Given the description of an element on the screen output the (x, y) to click on. 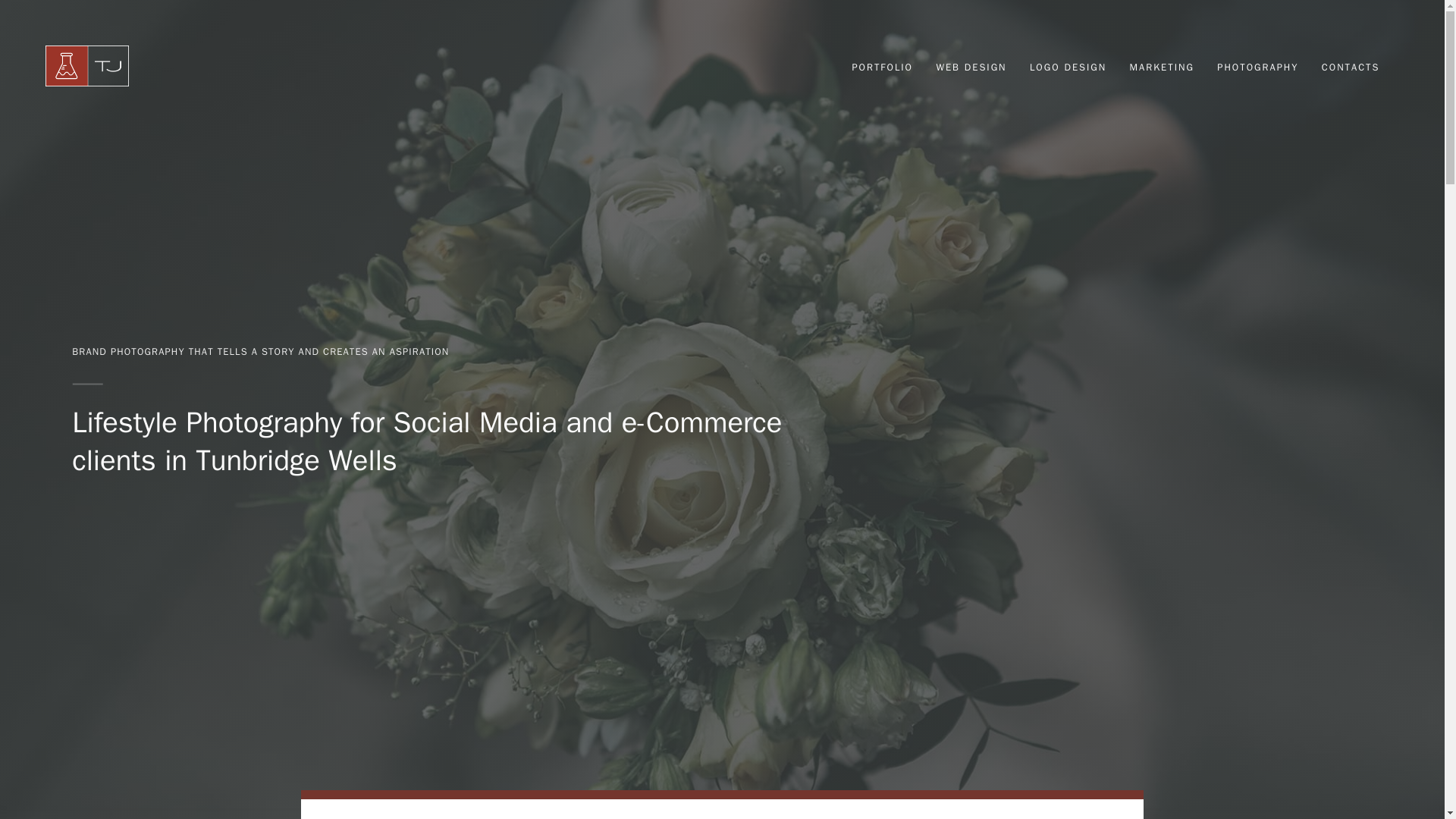
WEB DESIGN (981, 67)
MARKETING (1171, 67)
PORTFOLIO (891, 67)
LOGO DESIGN (1077, 67)
CONTACTS (1360, 67)
PHOTOGRAPHY (1267, 67)
